Given the description of an element on the screen output the (x, y) to click on. 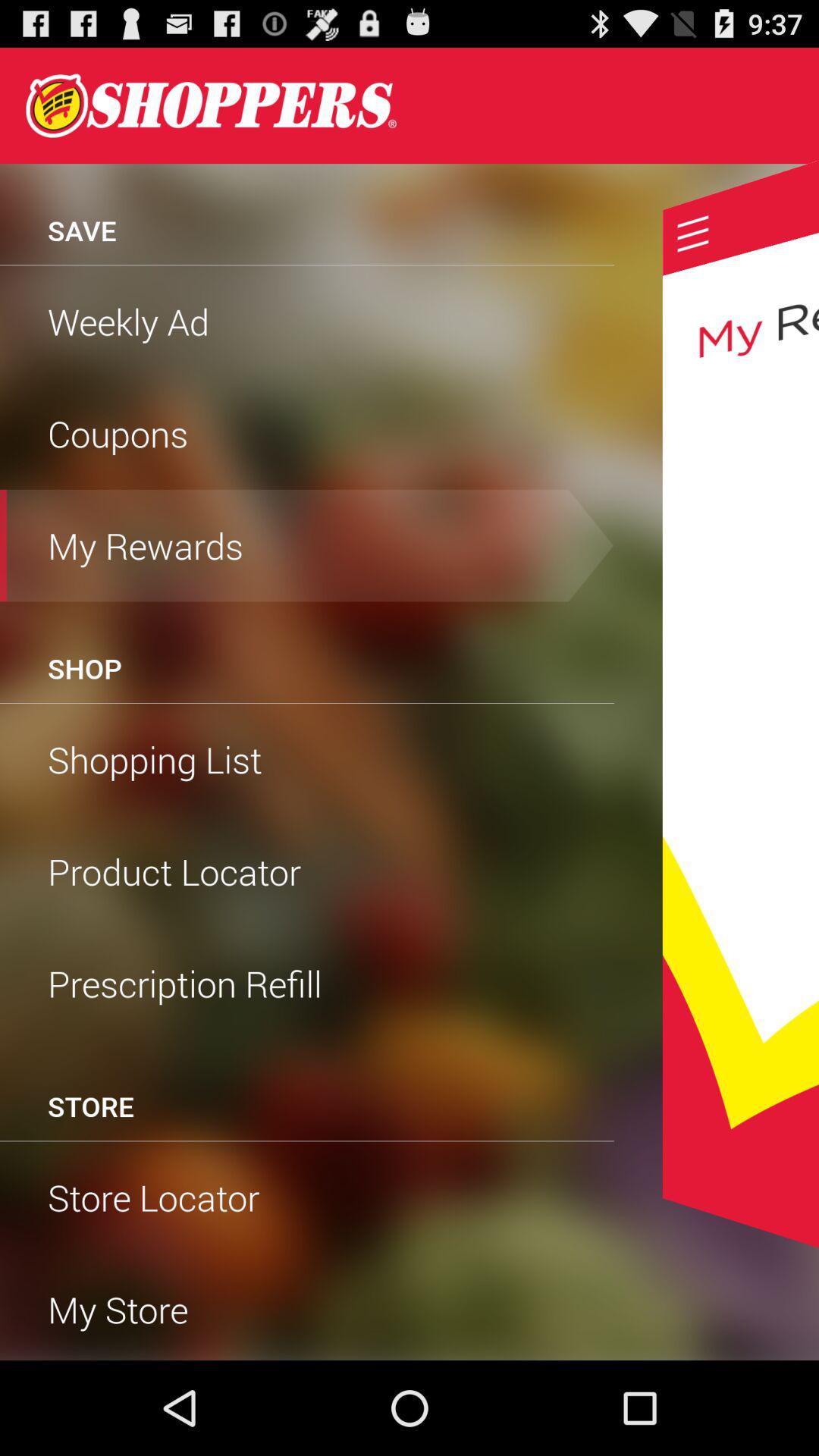
logo (211, 105)
